Given the description of an element on the screen output the (x, y) to click on. 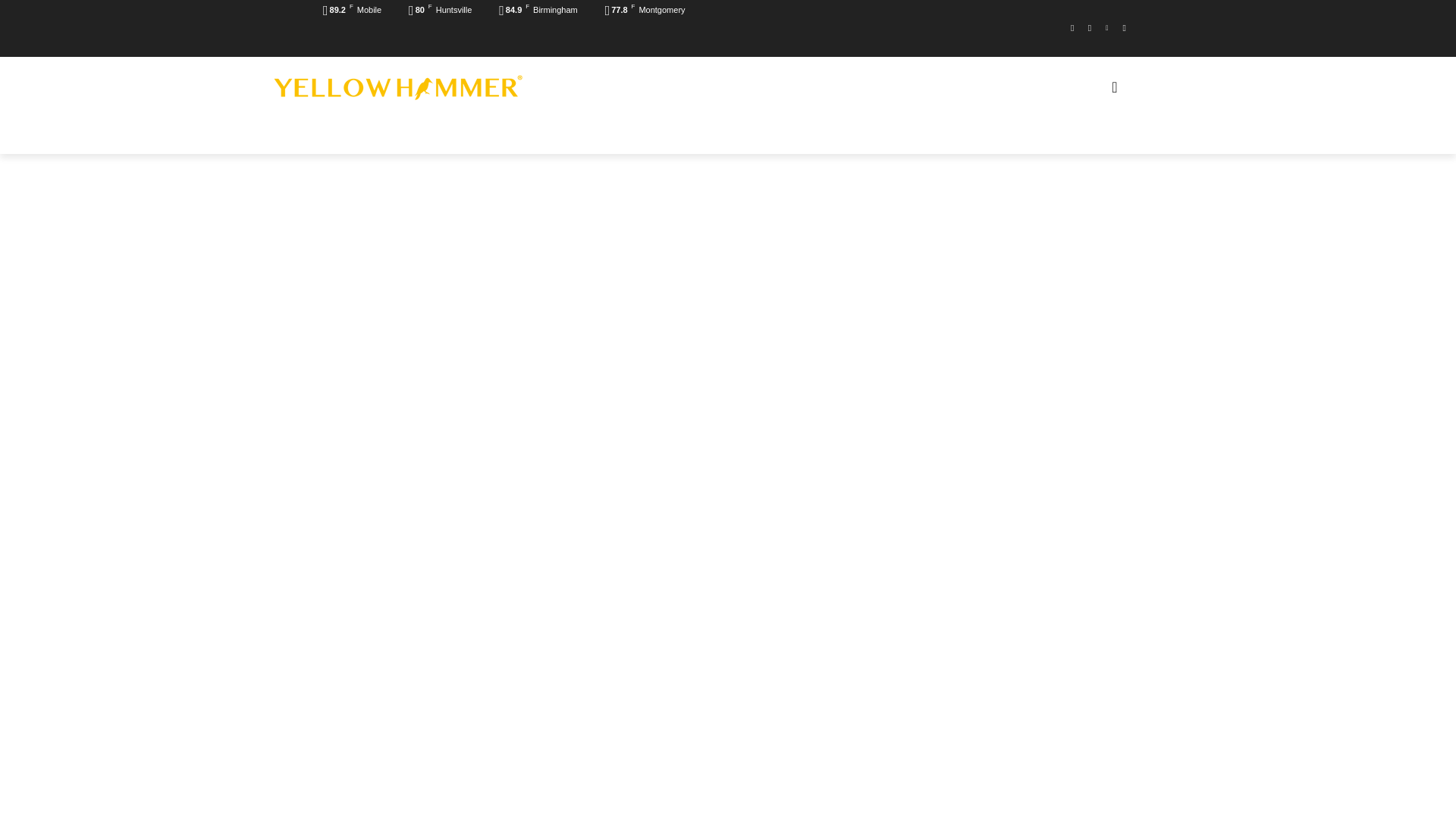
Instagram (1090, 27)
Twitter (1123, 27)
Linkedin (1106, 27)
Facebook (1072, 27)
